Given the description of an element on the screen output the (x, y) to click on. 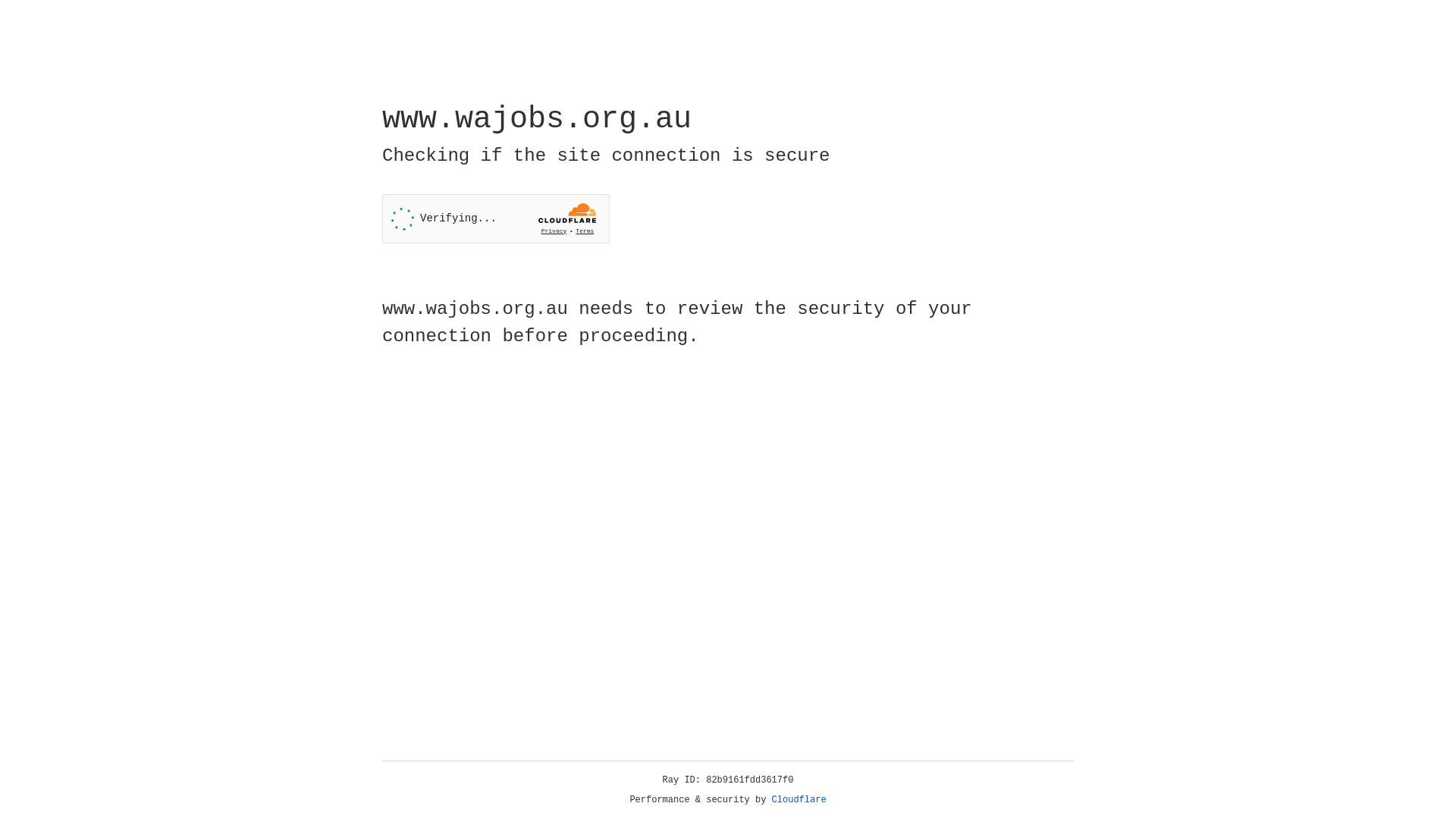
Widget containing a Cloudflare security challenge Element type: hover (495, 218)
Cloudflare Element type: text (798, 799)
